Given the description of an element on the screen output the (x, y) to click on. 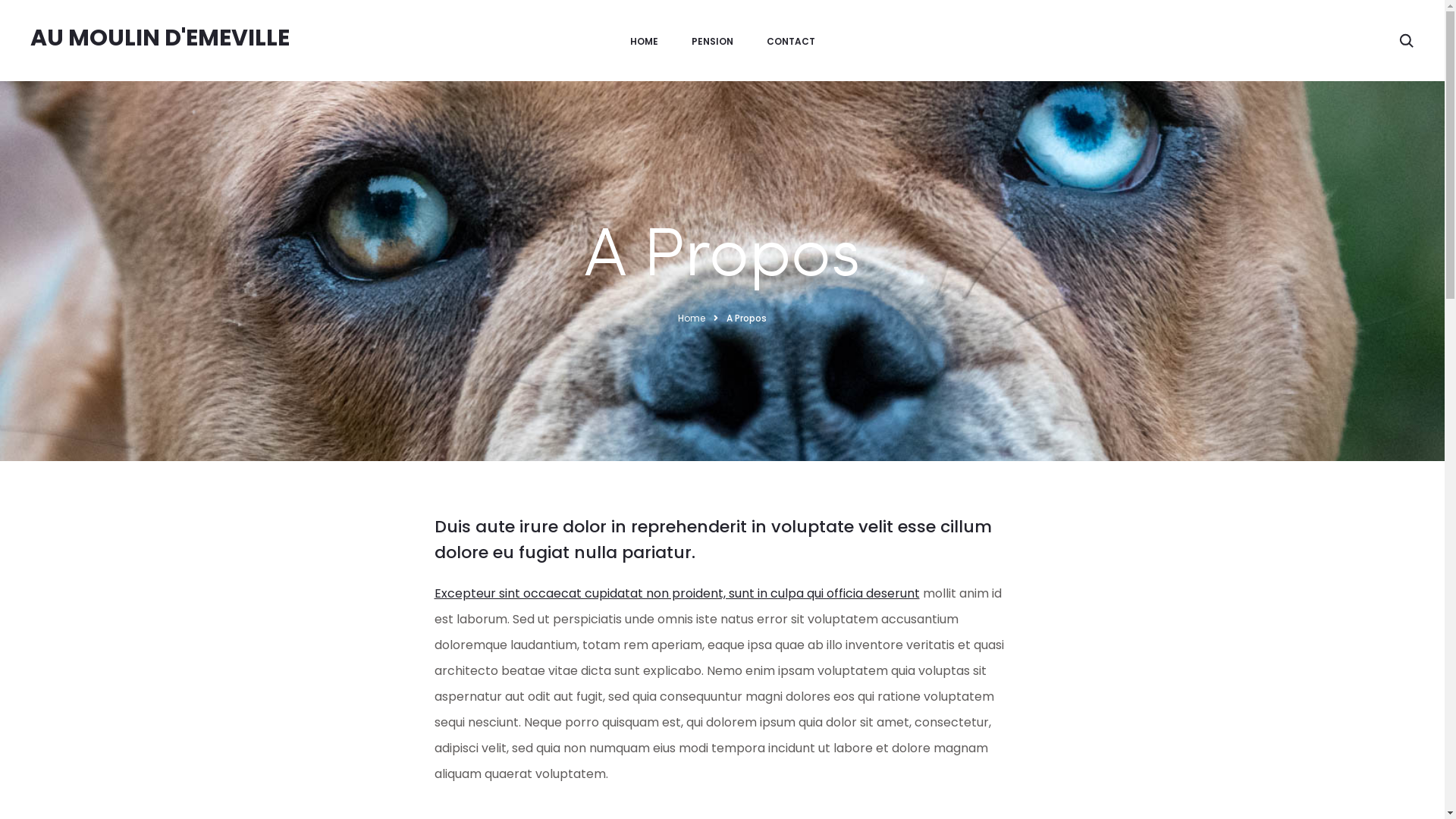
HOME Element type: text (643, 41)
Home Element type: text (691, 317)
CONTACT Element type: text (789, 41)
AU MOULIN D'EMEVILLE Element type: text (159, 37)
PENSION Element type: text (712, 41)
